Given the description of an element on the screen output the (x, y) to click on. 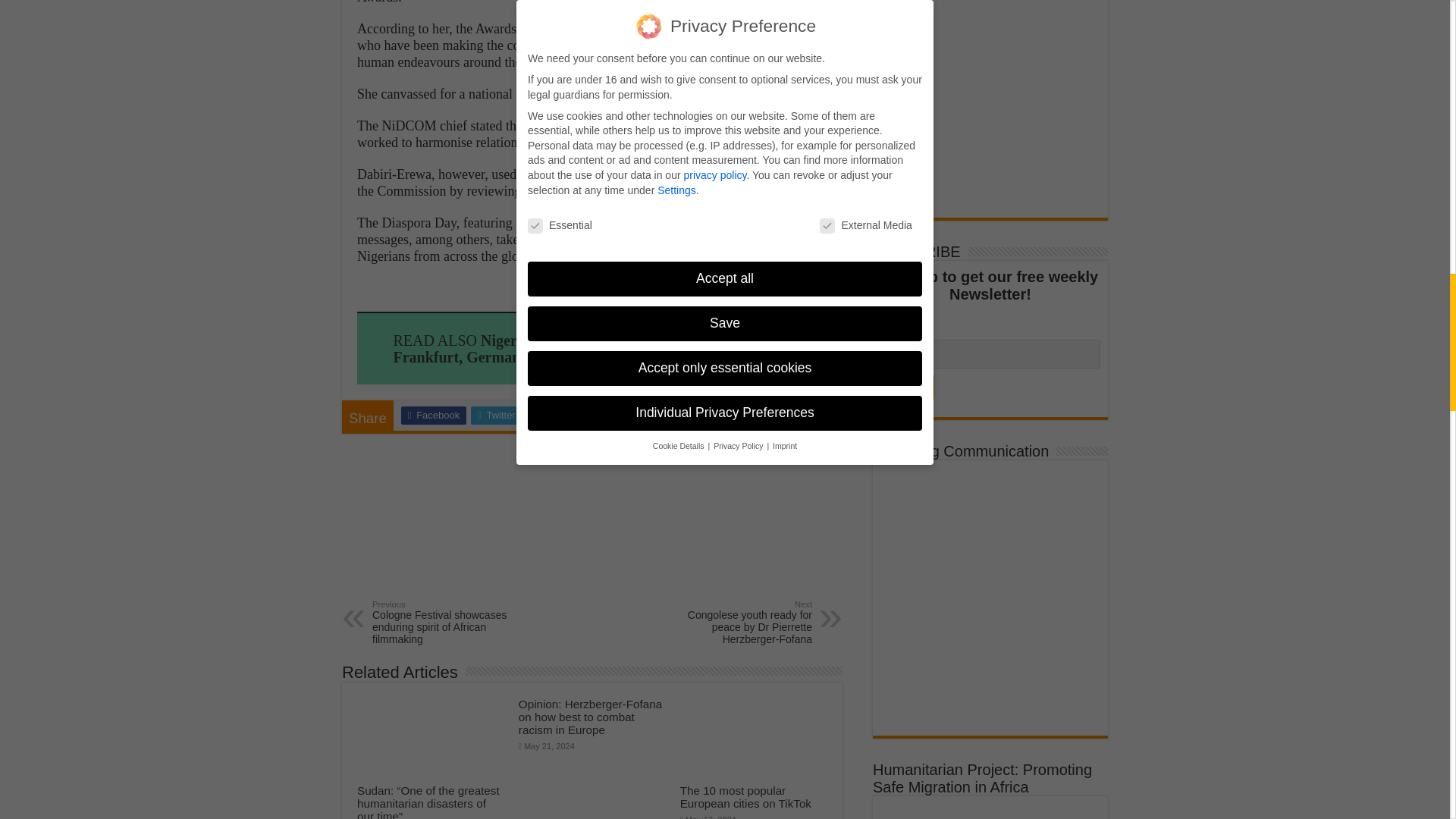
Subscribe (907, 387)
